Given the description of an element on the screen output the (x, y) to click on. 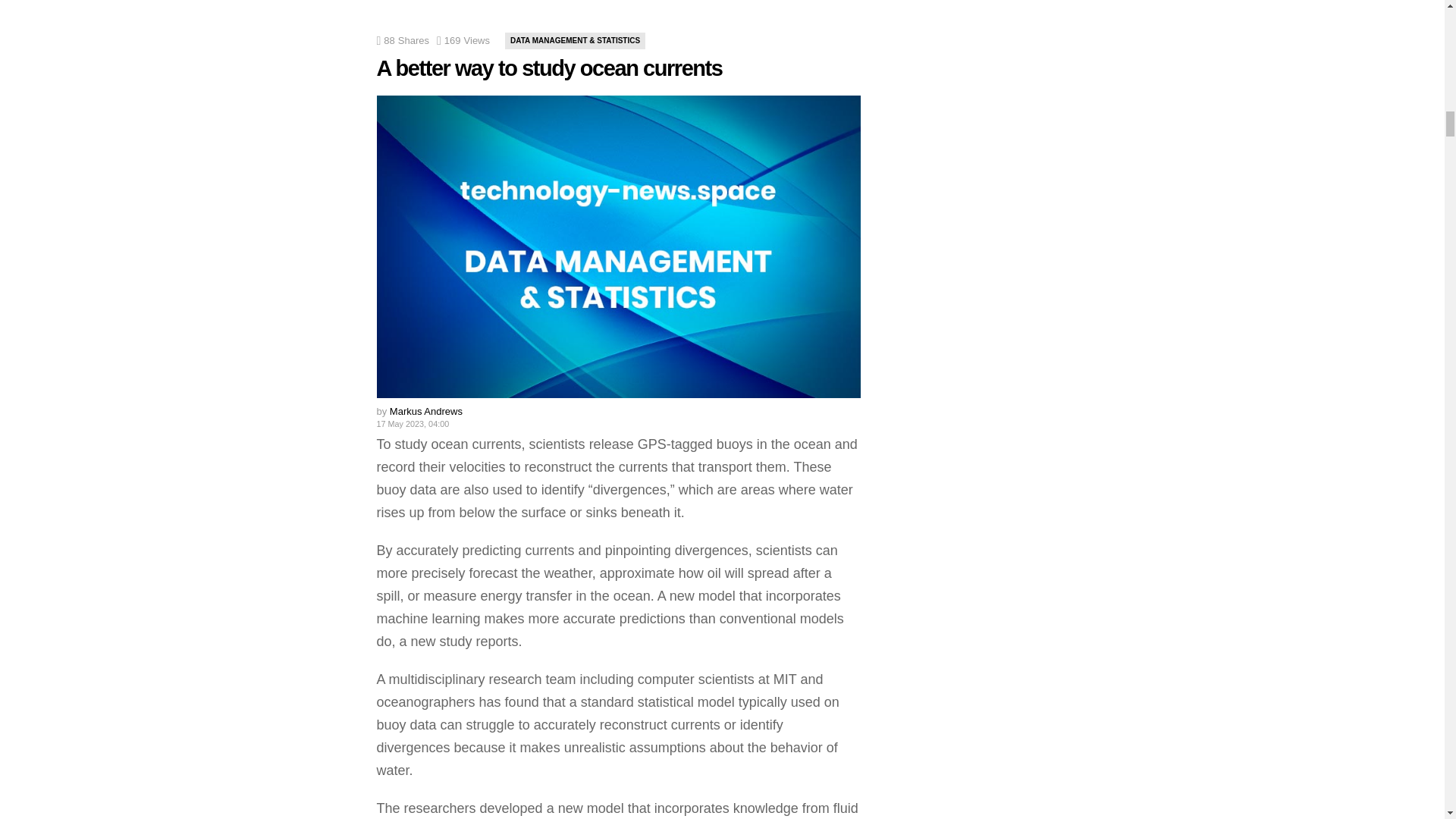
Posts by Markus Andrews (426, 410)
